Given the description of an element on the screen output the (x, y) to click on. 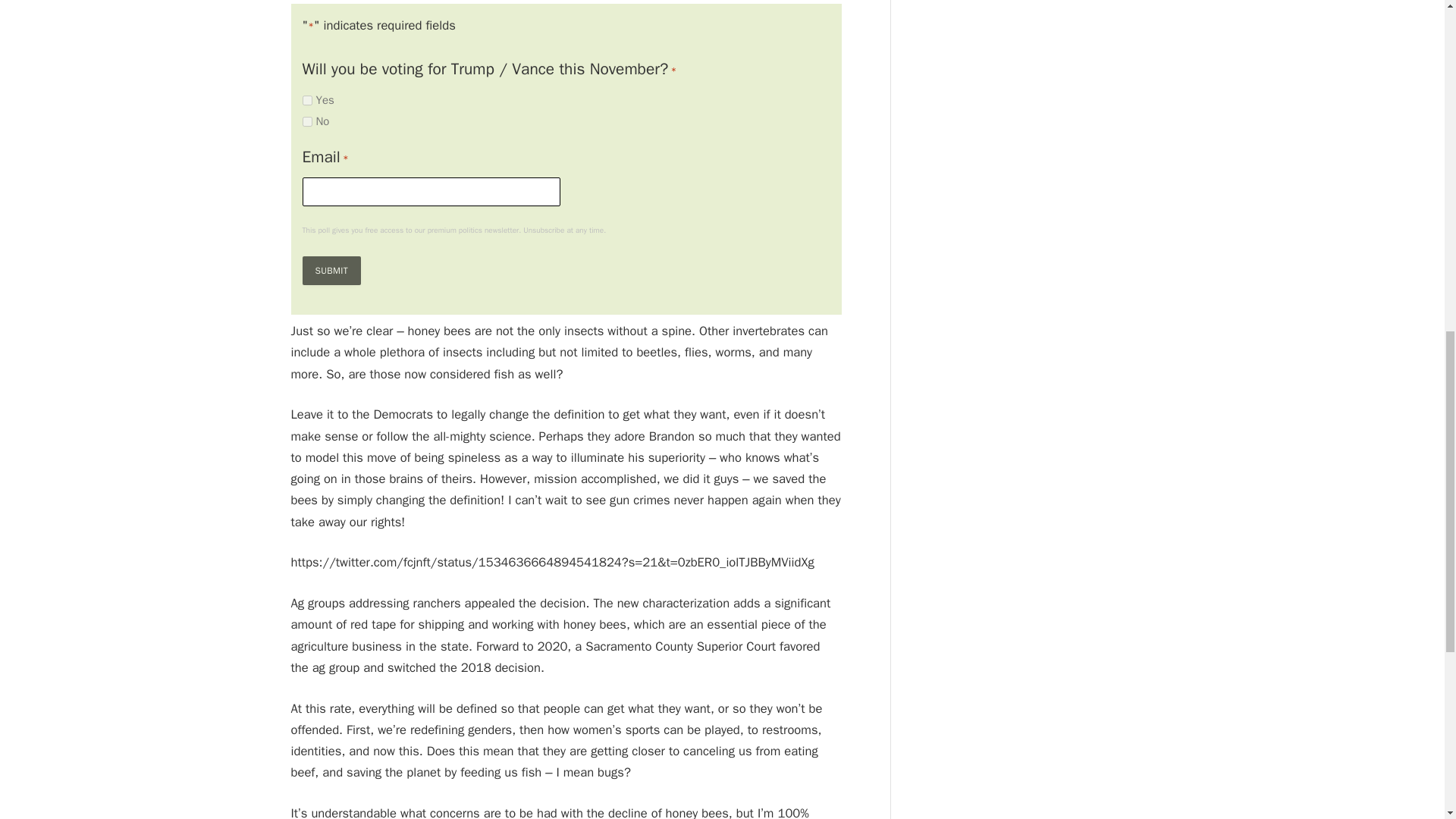
Submit (331, 270)
gpoll1b5b3d8f6 (306, 100)
Submit (331, 270)
gpoll1b2a53ce5 (306, 121)
